Given the description of an element on the screen output the (x, y) to click on. 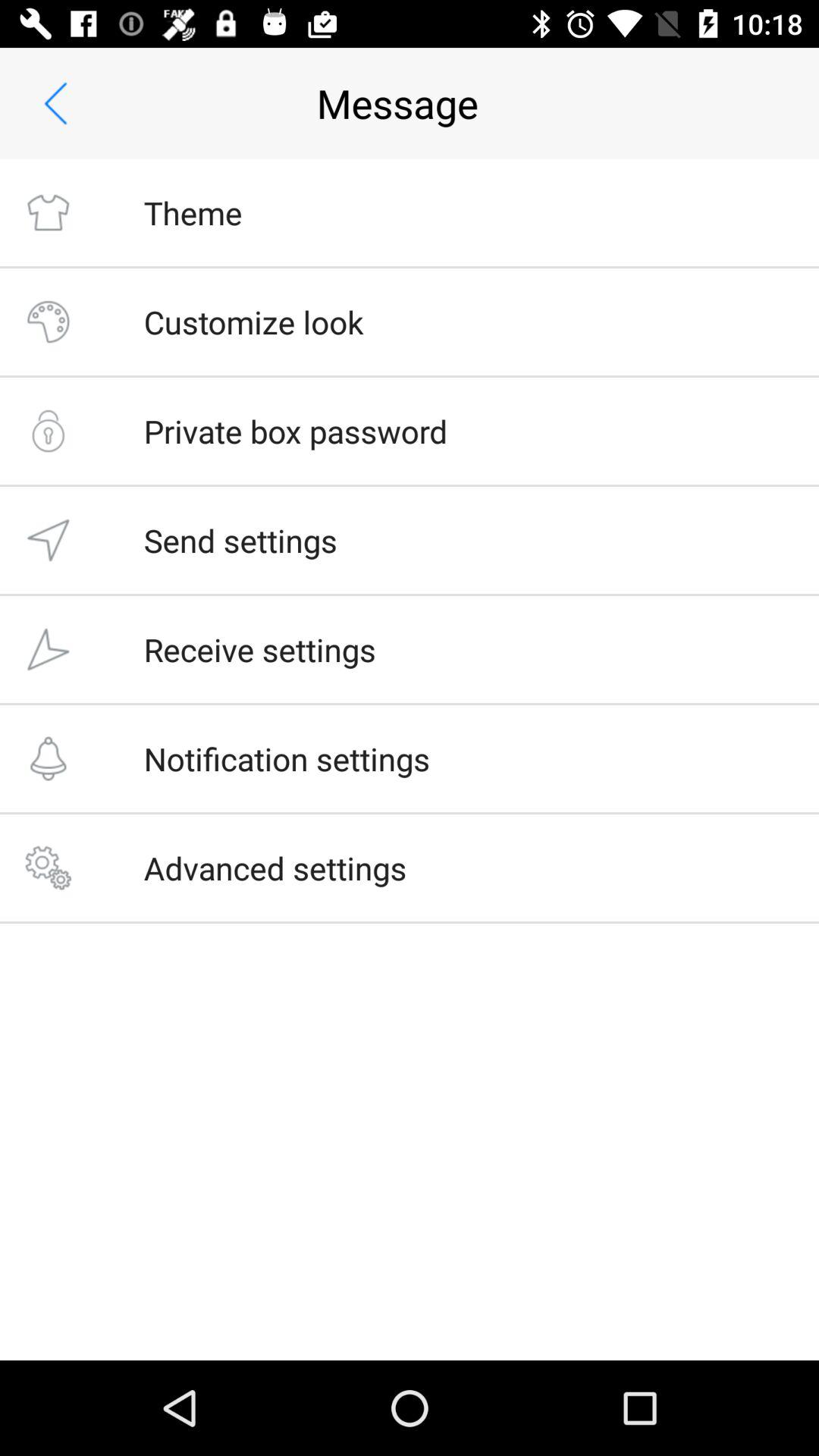
tap icon above the advanced settings icon (286, 758)
